Given the description of an element on the screen output the (x, y) to click on. 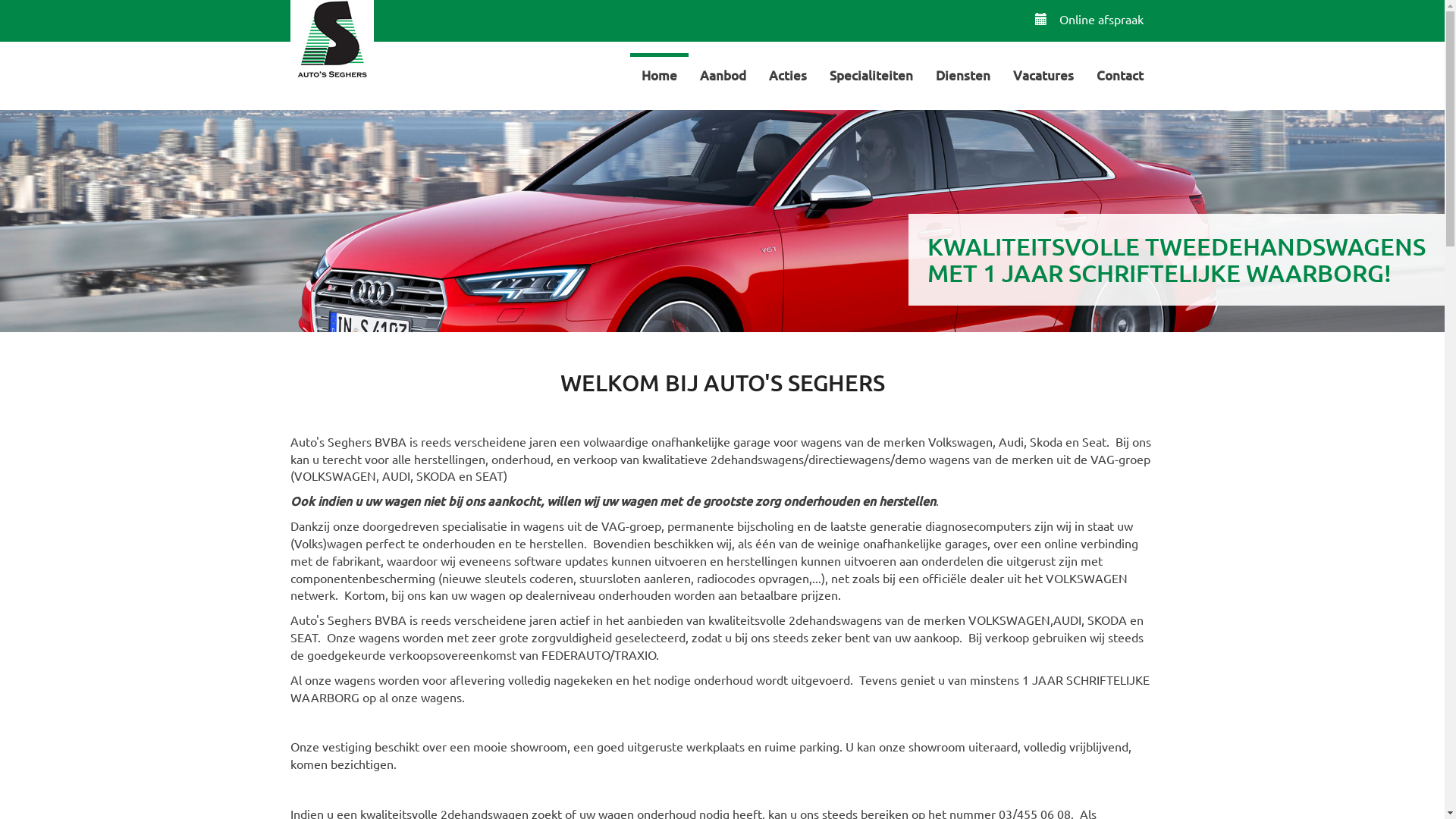
Diensten Element type: text (962, 73)
Specialiteiten Element type: text (870, 73)
Vacatures Element type: text (1042, 73)
Home Element type: text (658, 73)
Acties Element type: text (786, 73)
home Element type: hover (331, 41)
Aanbod Element type: text (722, 73)
Contact Element type: text (1119, 73)
 Online afspraak Element type: text (1088, 18)
